Given the description of an element on the screen output the (x, y) to click on. 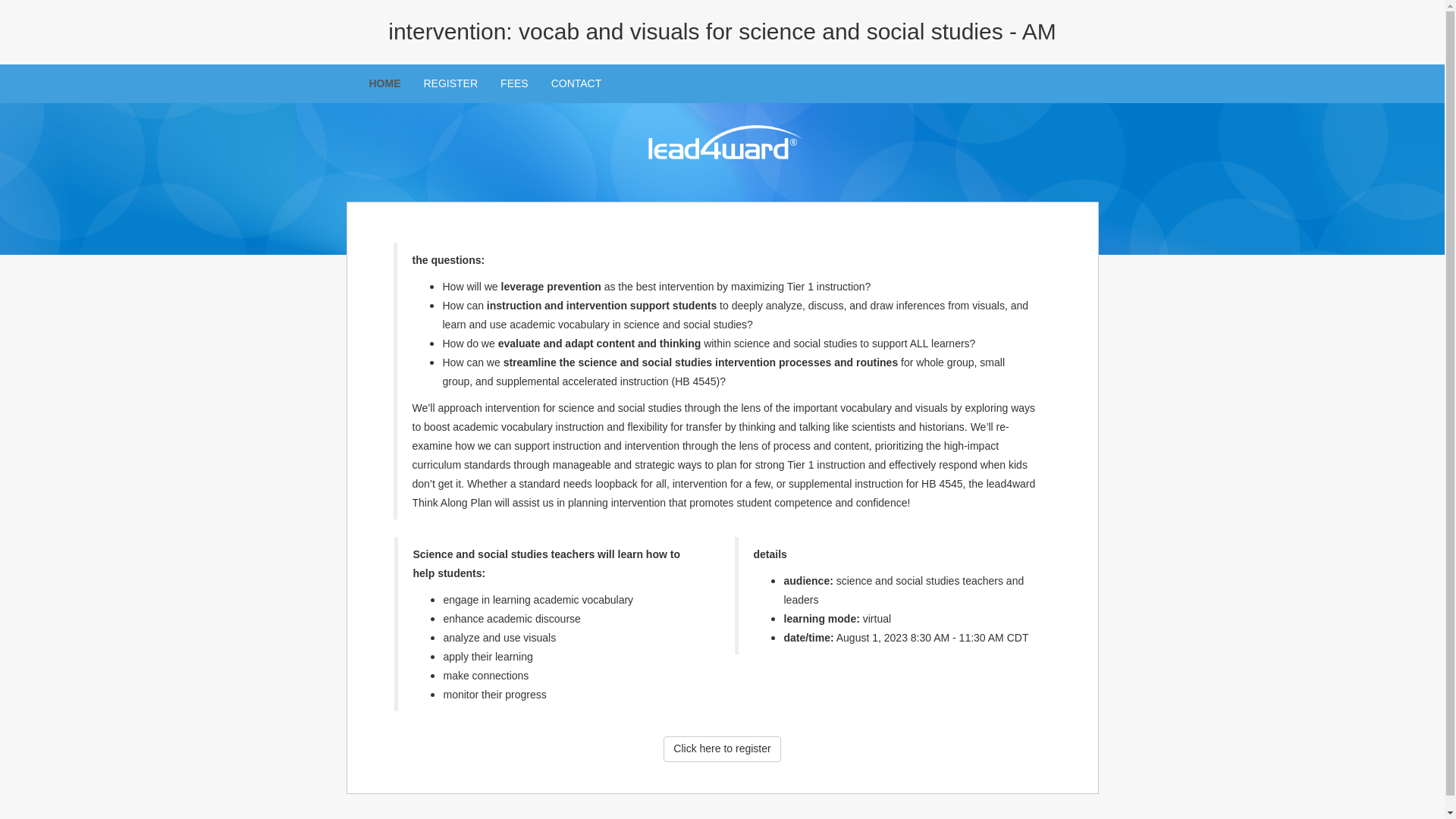
FEES (514, 83)
REGISTER (450, 83)
CONTACT (576, 83)
HOME (385, 83)
Click here to register (721, 749)
